Given the description of an element on the screen output the (x, y) to click on. 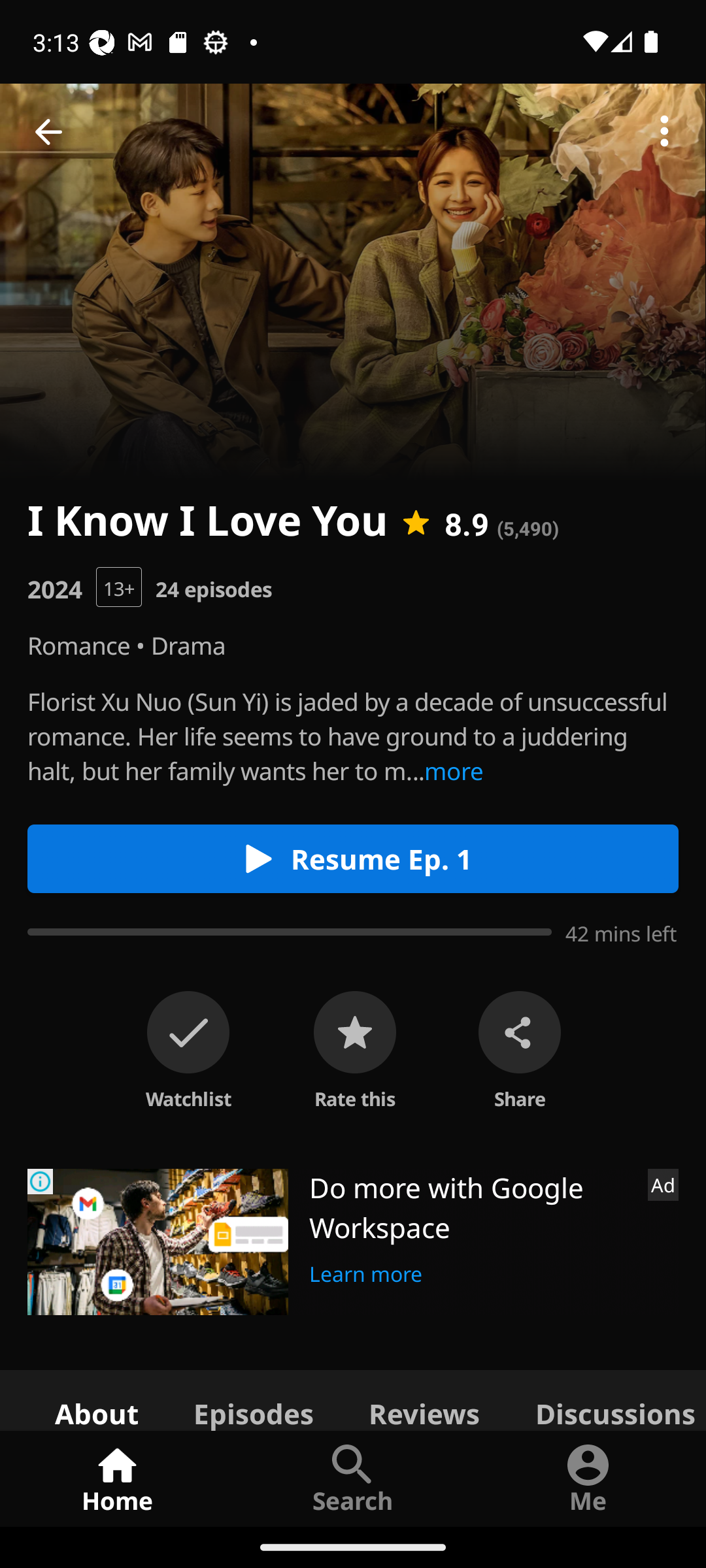
More (664, 131)
on (187, 1032)
Ad Choices Icon (39, 1181)
Do more with Google Workspace (471, 1207)
Learn more (365, 1271)
Episodes (252, 1400)
Reviews (423, 1400)
Discussions (606, 1400)
Search (352, 1478)
Me (588, 1478)
